Given the description of an element on the screen output the (x, y) to click on. 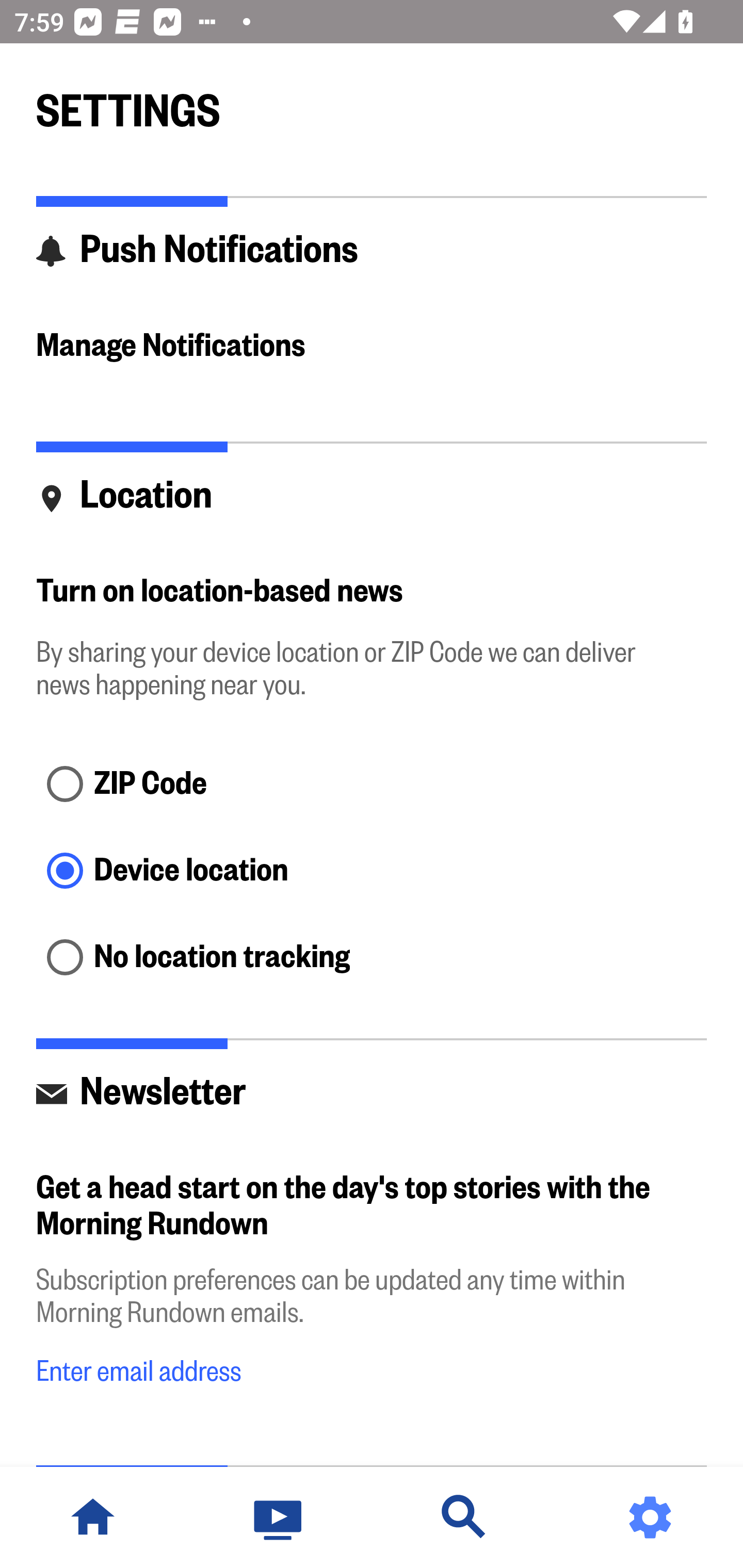
SETTINGS (371, 101)
Manage Notifications (371, 346)
ZIP Code (371, 785)
Device location (371, 872)
No location tracking (371, 958)
NBC News Home (92, 1517)
Watch (278, 1517)
Discover (464, 1517)
